Given the description of an element on the screen output the (x, y) to click on. 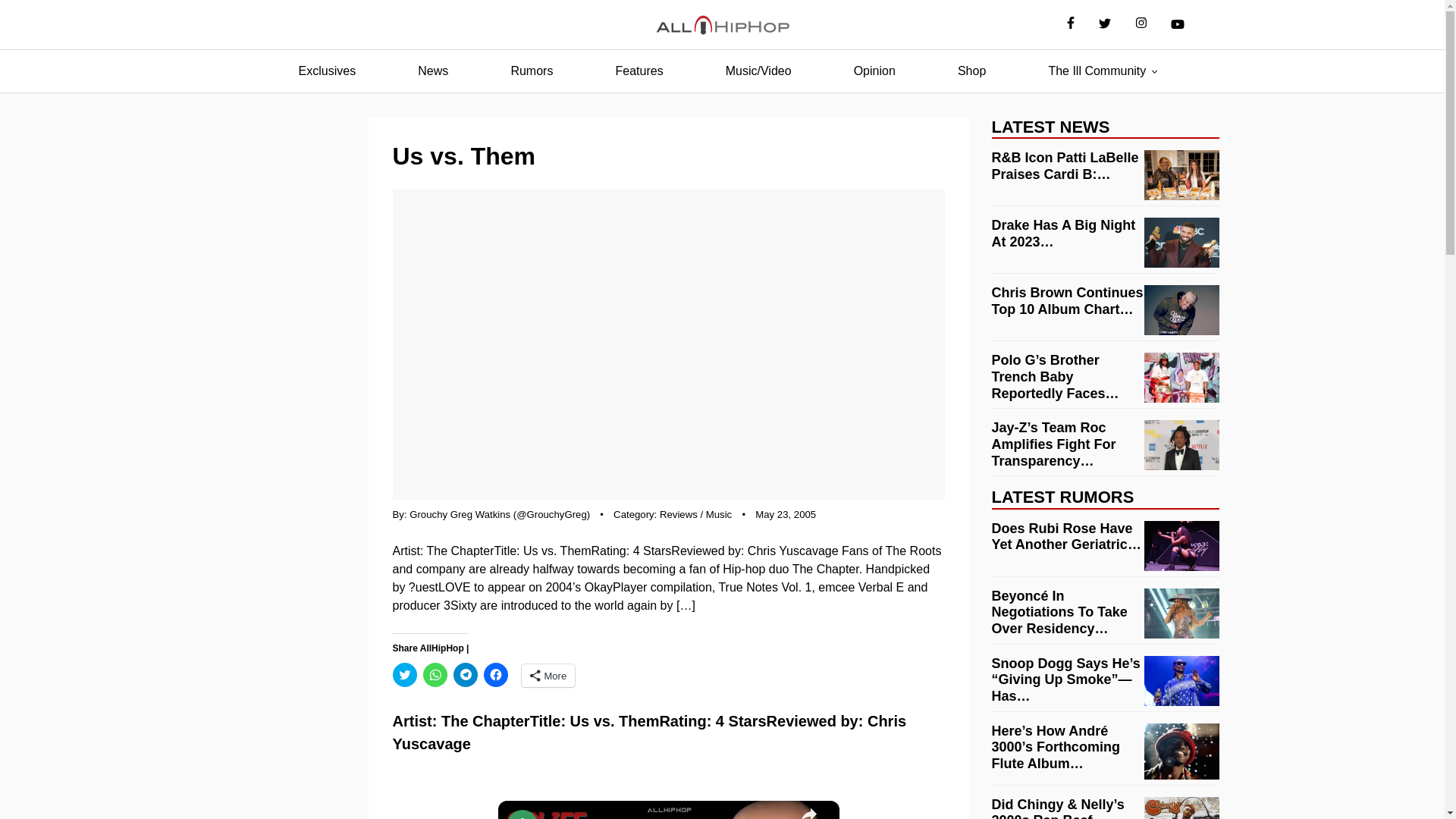
May 23, 2005 (785, 514)
Features (638, 70)
Click to share on Twitter (404, 674)
AllHipHop (722, 25)
Rumors (530, 70)
Click to share on Facebook (495, 674)
Opinion (874, 70)
Shop (970, 70)
Click to share on WhatsApp (434, 674)
Exclusives (327, 70)
News (433, 70)
Click to share on Telegram (464, 674)
The Ill Community (1096, 70)
